Given the description of an element on the screen output the (x, y) to click on. 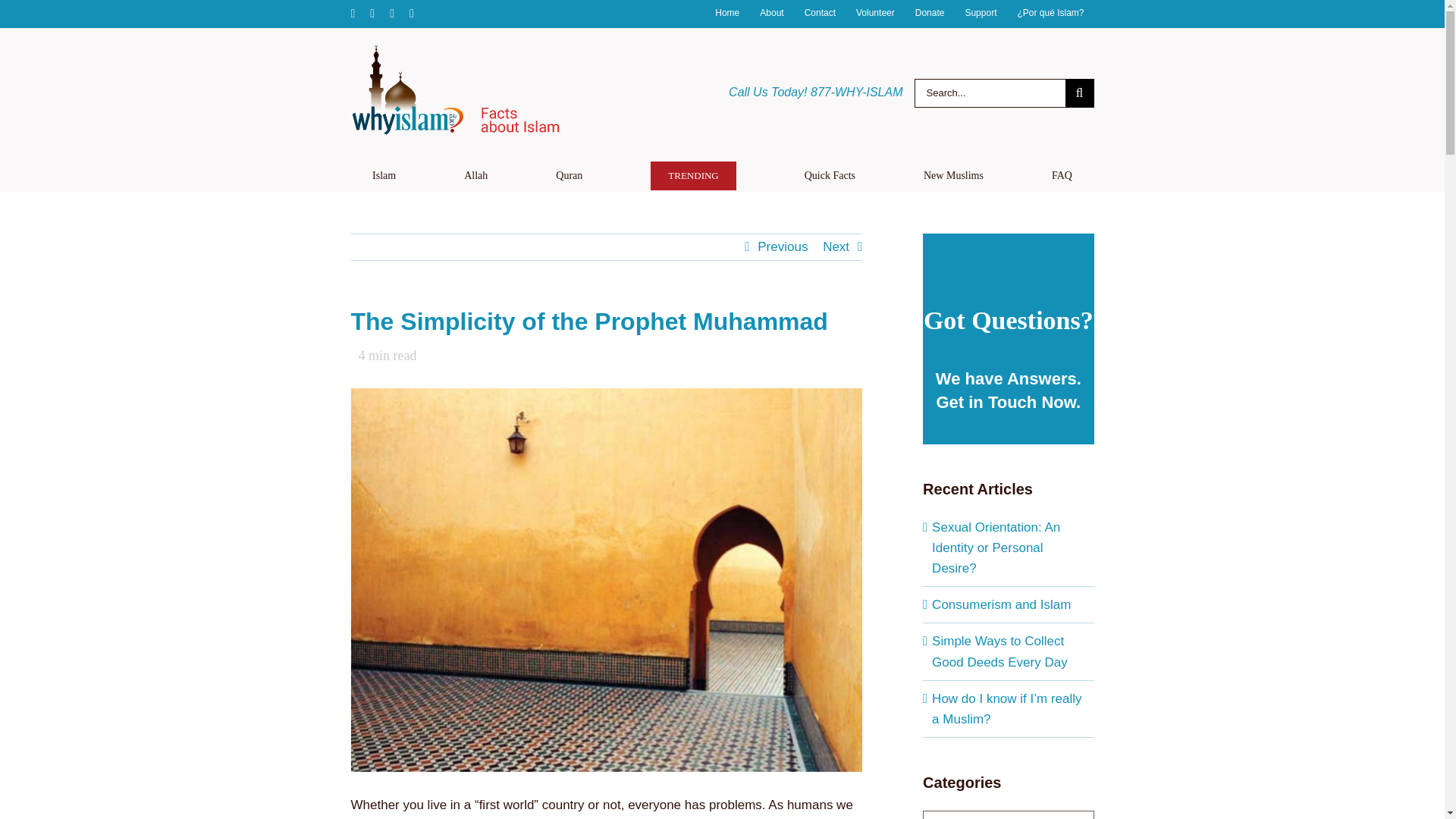
Volunteer (874, 13)
Support (980, 13)
Donate (930, 13)
Home (726, 13)
Contact (819, 13)
About (771, 13)
